Given the description of an element on the screen output the (x, y) to click on. 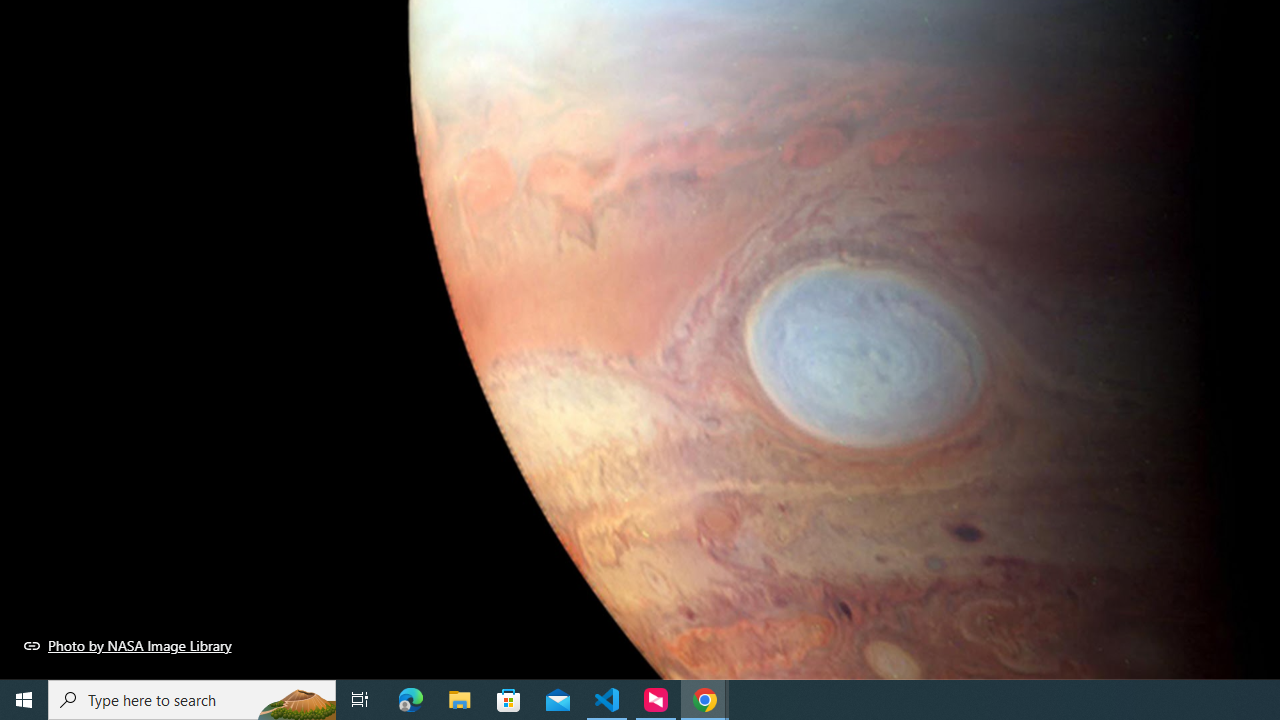
Photo by NASA Image Library (127, 645)
